Given the description of an element on the screen output the (x, y) to click on. 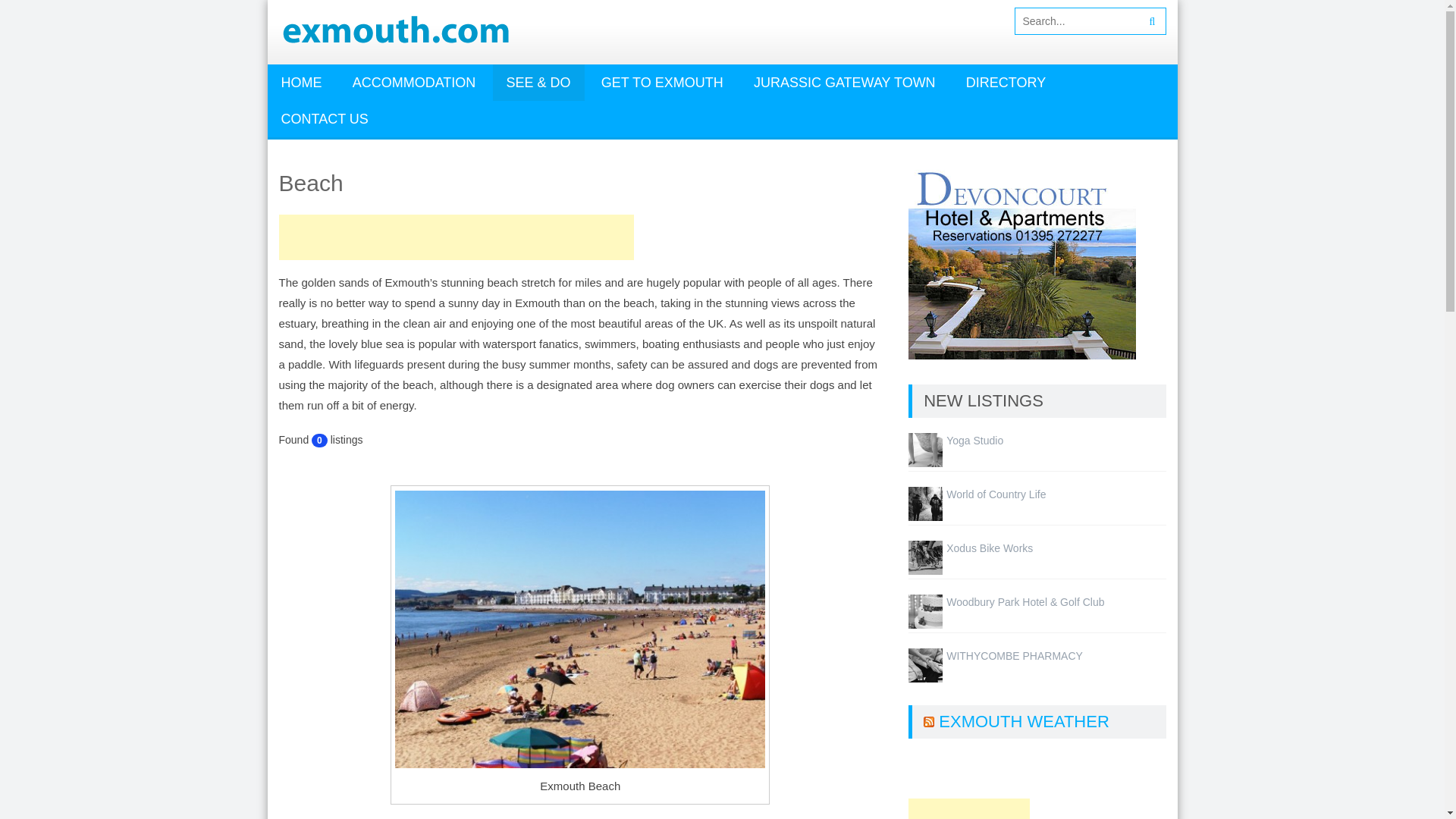
WITHYCOMBE PHARMACY (1014, 655)
WITHYCOMBE PHARMACY (925, 664)
Xodus Bike Works (925, 556)
World of Country Life (995, 494)
GET TO EXMOUTH (662, 82)
Yoga Studio (974, 440)
DIRECTORY (1005, 82)
EXMOUTH WEATHER (1023, 721)
World of Country Life (995, 494)
Exmouth Tourist Guide (300, 82)
Xodus Bike Works (989, 548)
Exmouth Directory (1005, 82)
Yoga Studio (925, 449)
Xodus Bike Works (989, 548)
WITHYCOMBE PHARMACY (1014, 655)
